Given the description of an element on the screen output the (x, y) to click on. 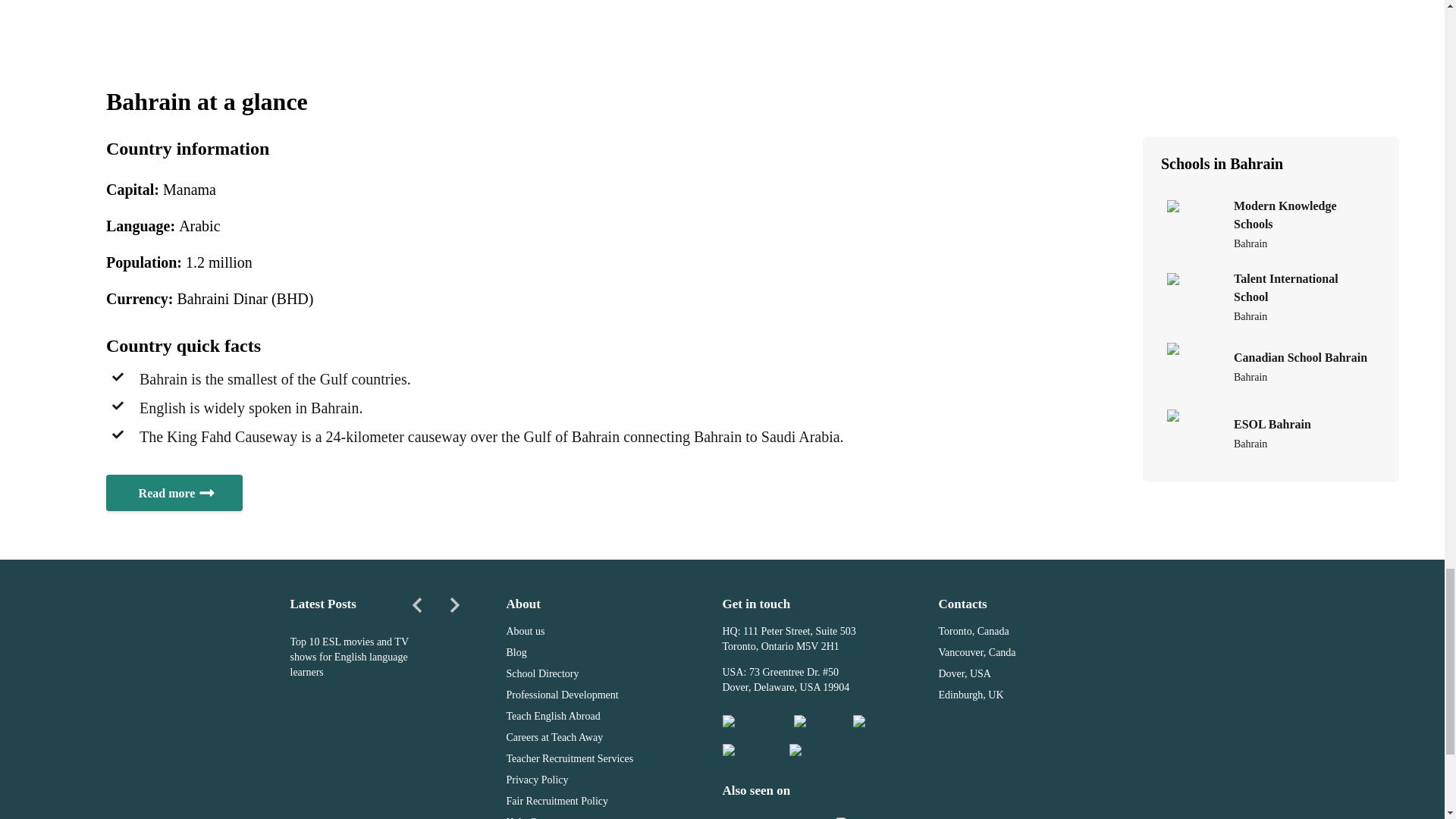
Checkmark Small Icon (117, 434)
Checkmark Small Icon (117, 377)
Checkmark Small Icon (117, 405)
